Given the description of an element on the screen output the (x, y) to click on. 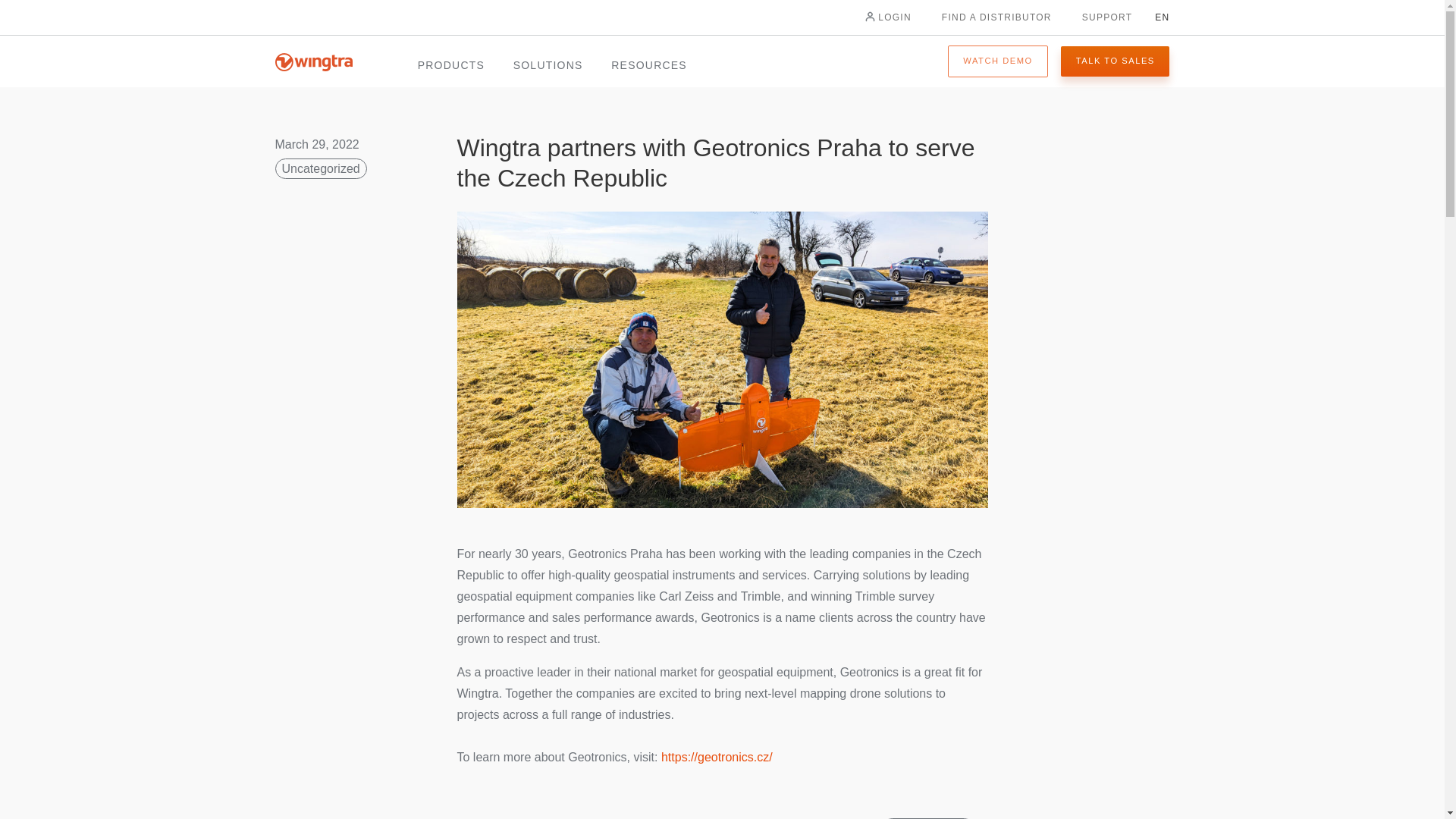
SUPPORT (1107, 17)
FIND A DISTRIBUTOR (996, 17)
SOLUTIONS (548, 67)
LOGIN (886, 17)
PRODUCTS (450, 67)
